Given the description of an element on the screen output the (x, y) to click on. 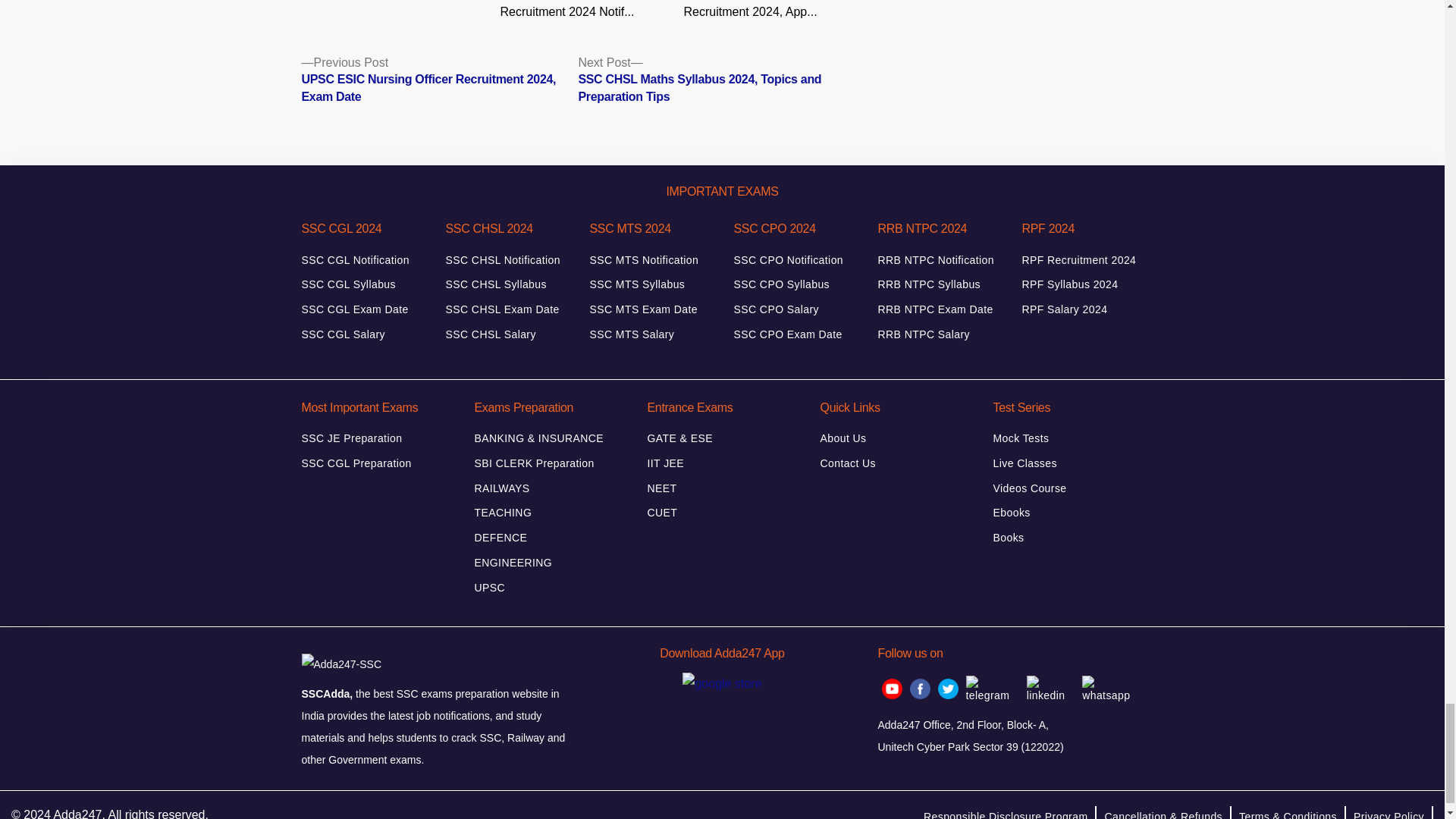
BIS Recruitment 2024 Notification Out for 345 Vacancies (402, 1)
